Given the description of an element on the screen output the (x, y) to click on. 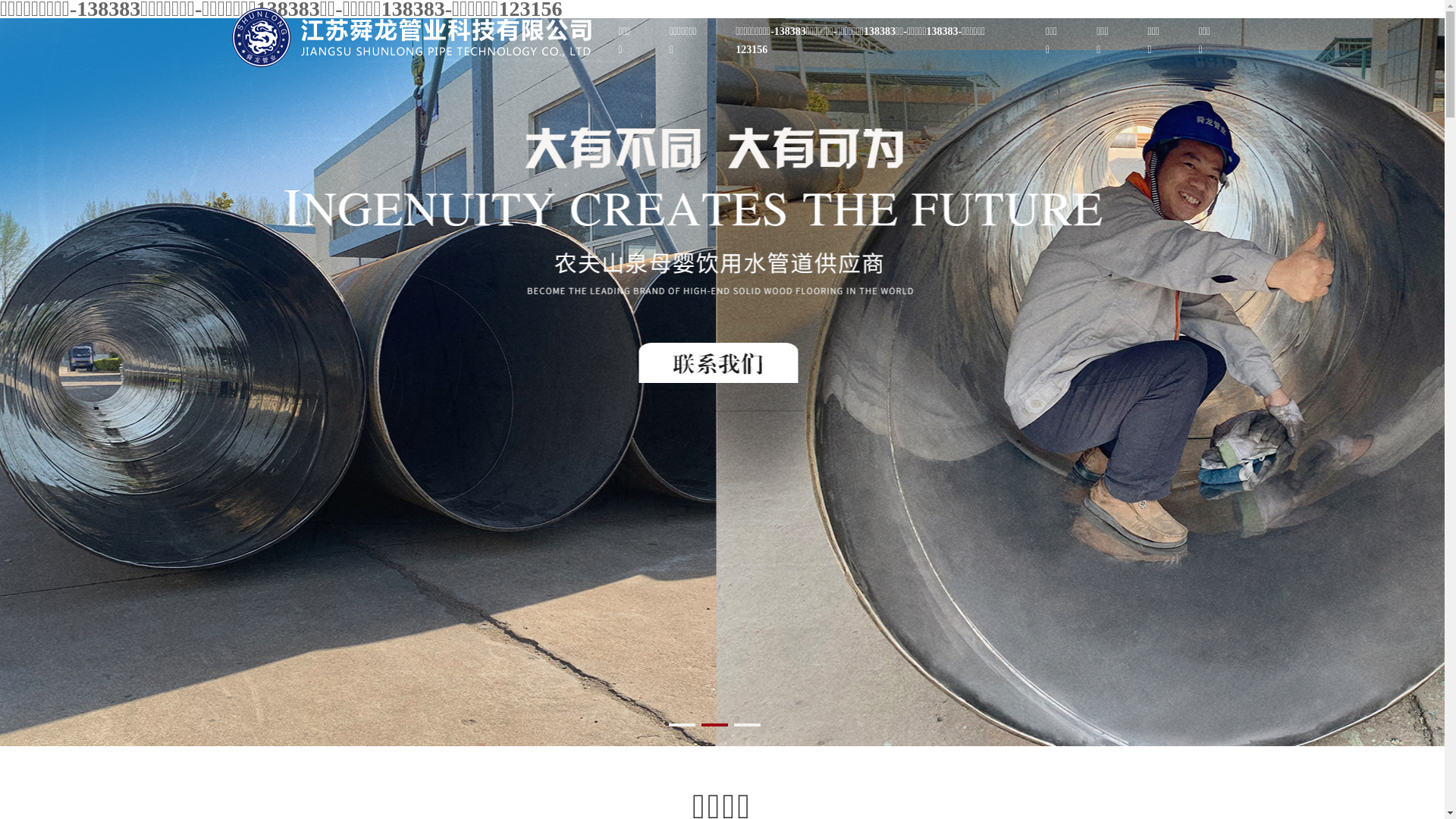
1 Element type: text (681, 724)
2 Element type: text (714, 724)
3 Element type: text (747, 724)
